Given the description of an element on the screen output the (x, y) to click on. 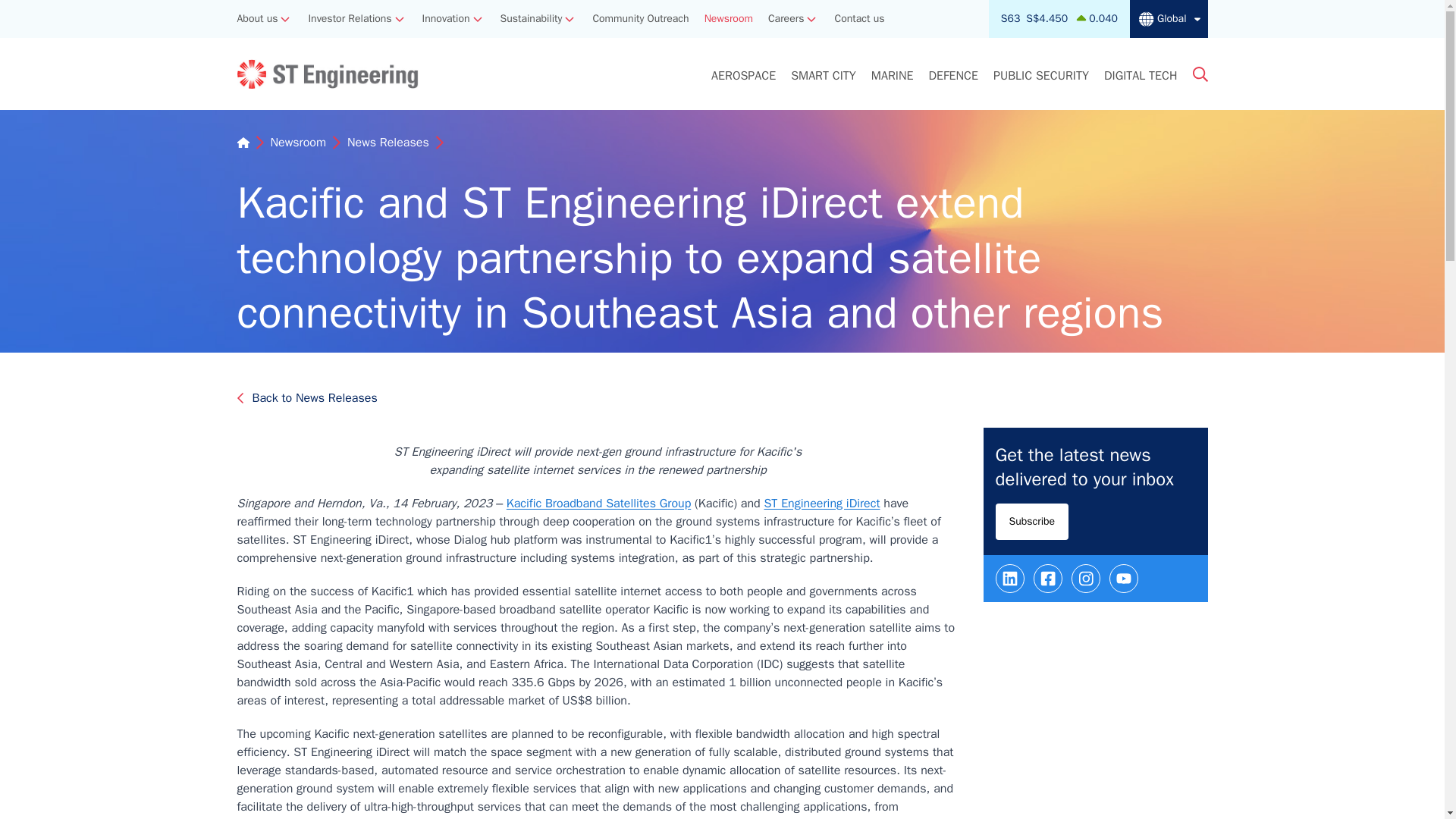
Community Outreach (640, 19)
Contact us (858, 19)
About us (256, 19)
AEROSPACE (743, 81)
Sustainability (531, 19)
Careers (786, 19)
Community Outreach (640, 19)
About us (256, 19)
Aerospace (743, 81)
Contact us (858, 19)
Innovation (446, 19)
Careers (786, 19)
Newsroom (728, 19)
Global (1168, 18)
Investor Relations (349, 19)
